Given the description of an element on the screen output the (x, y) to click on. 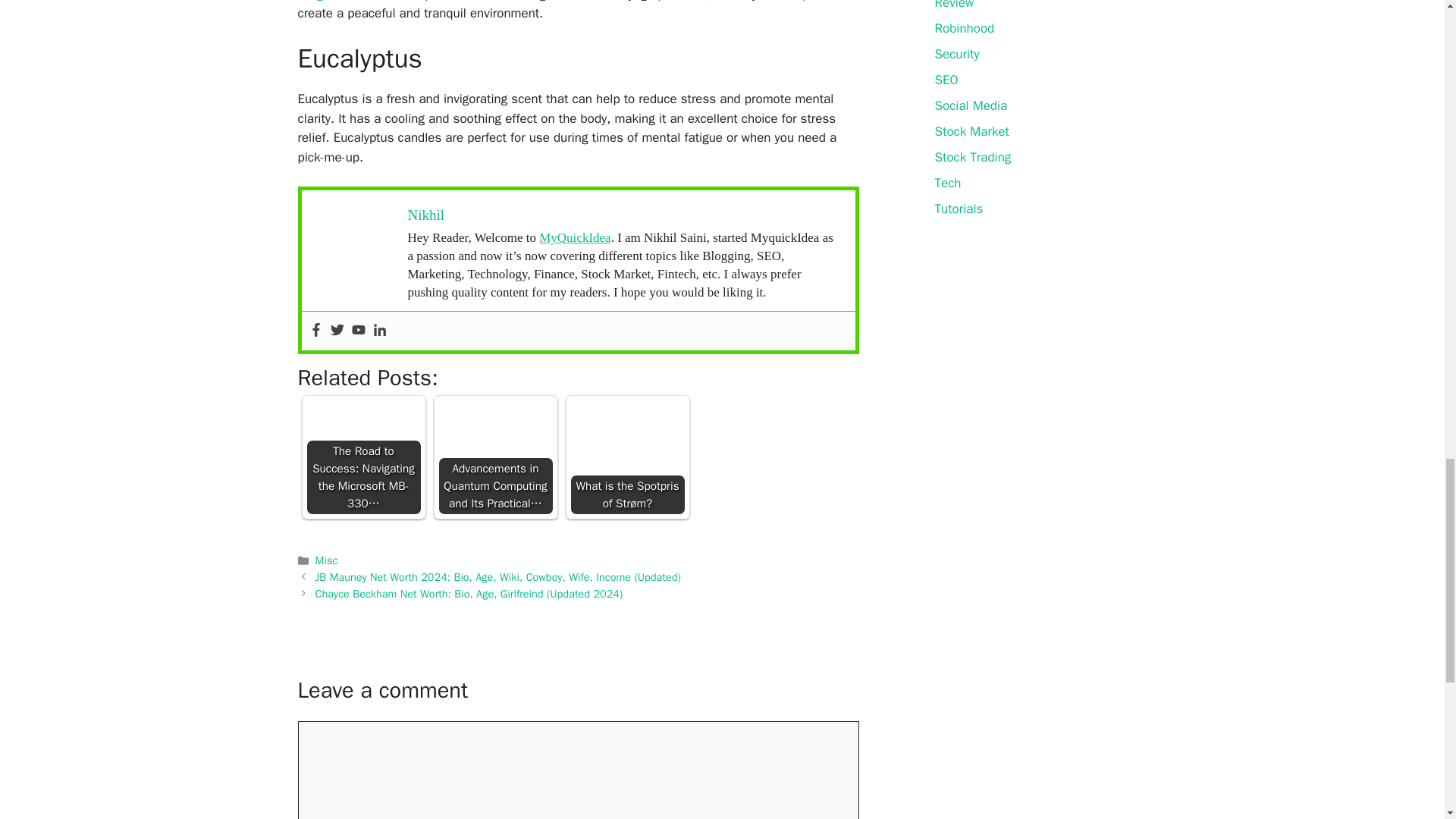
MyQuickIdea (574, 237)
Bergamot candles (347, 1)
Nikhil (426, 214)
